Given the description of an element on the screen output the (x, y) to click on. 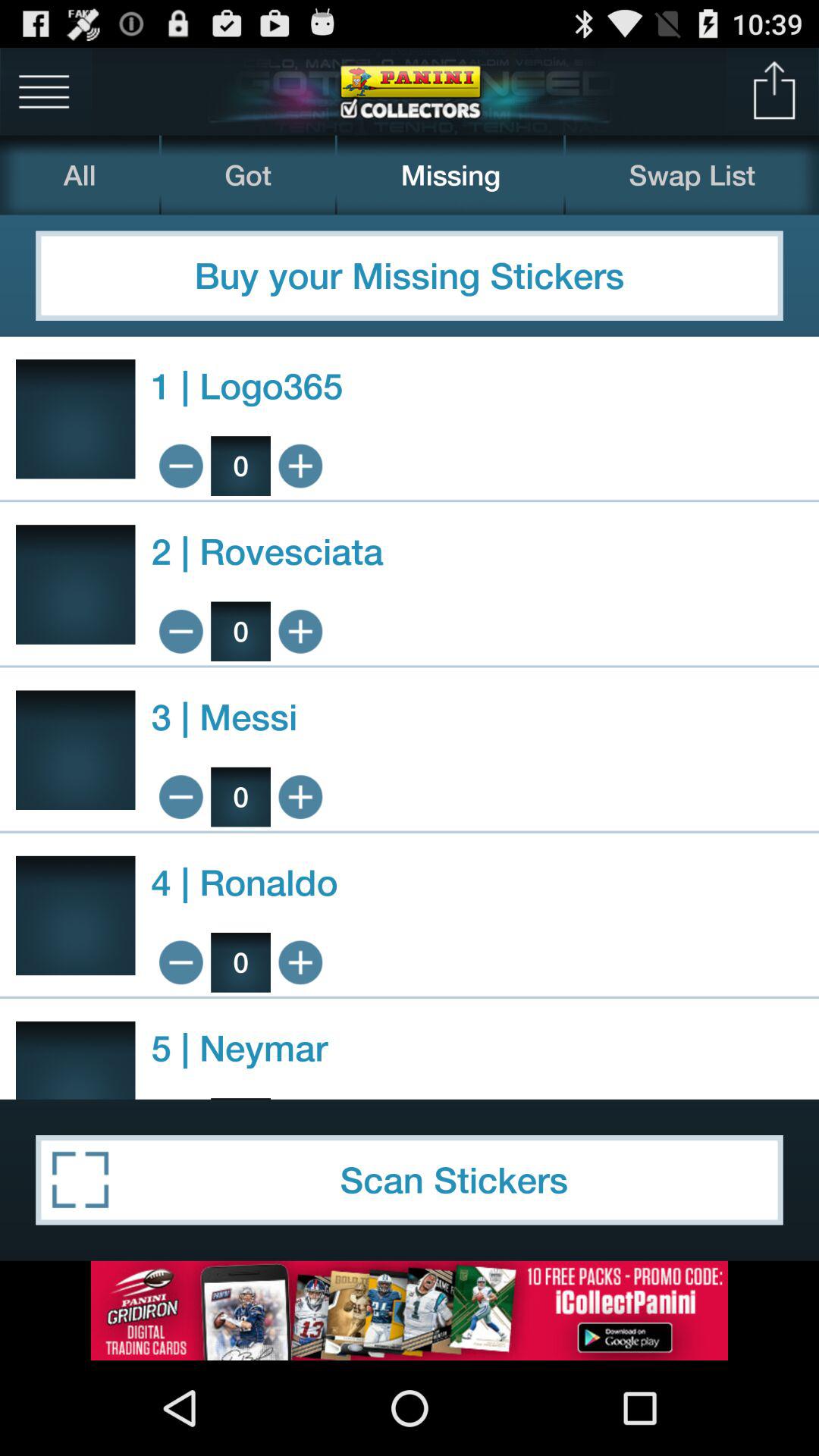
fewer (181, 796)
